Given the description of an element on the screen output the (x, y) to click on. 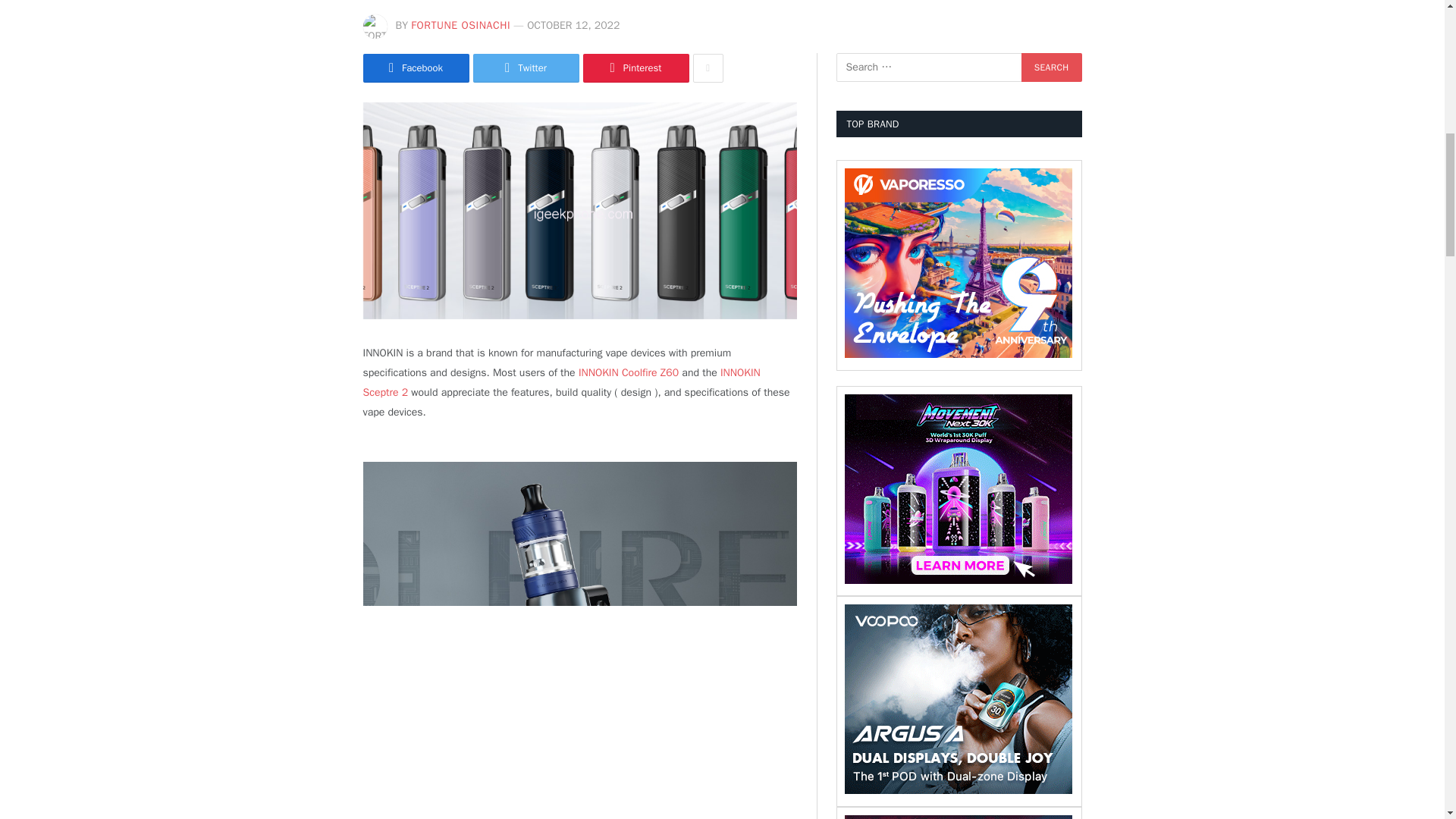
Show More Social Sharing (708, 68)
INNOKIN Coolfire Z60 Vs. Sceptre 2 Comparison Review (579, 210)
Posts by Fortune Osinachi (460, 24)
Share on Facebook (415, 68)
Share on Twitter (526, 68)
Search (1051, 67)
Share on Pinterest (635, 68)
Search (1051, 67)
